Given the description of an element on the screen output the (x, y) to click on. 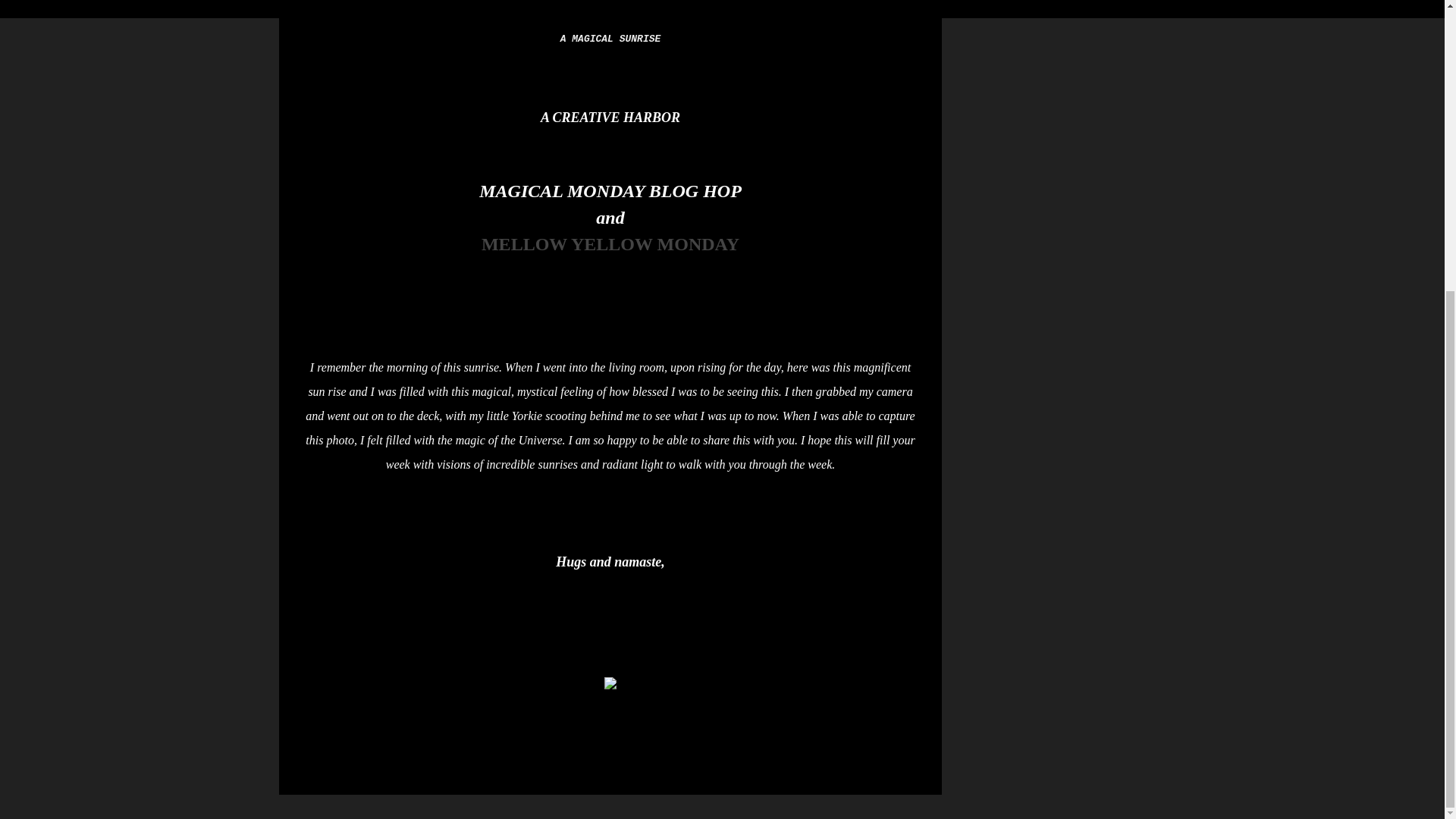
MELLOW YELLOW MONDAY (610, 243)
